Given the description of an element on the screen output the (x, y) to click on. 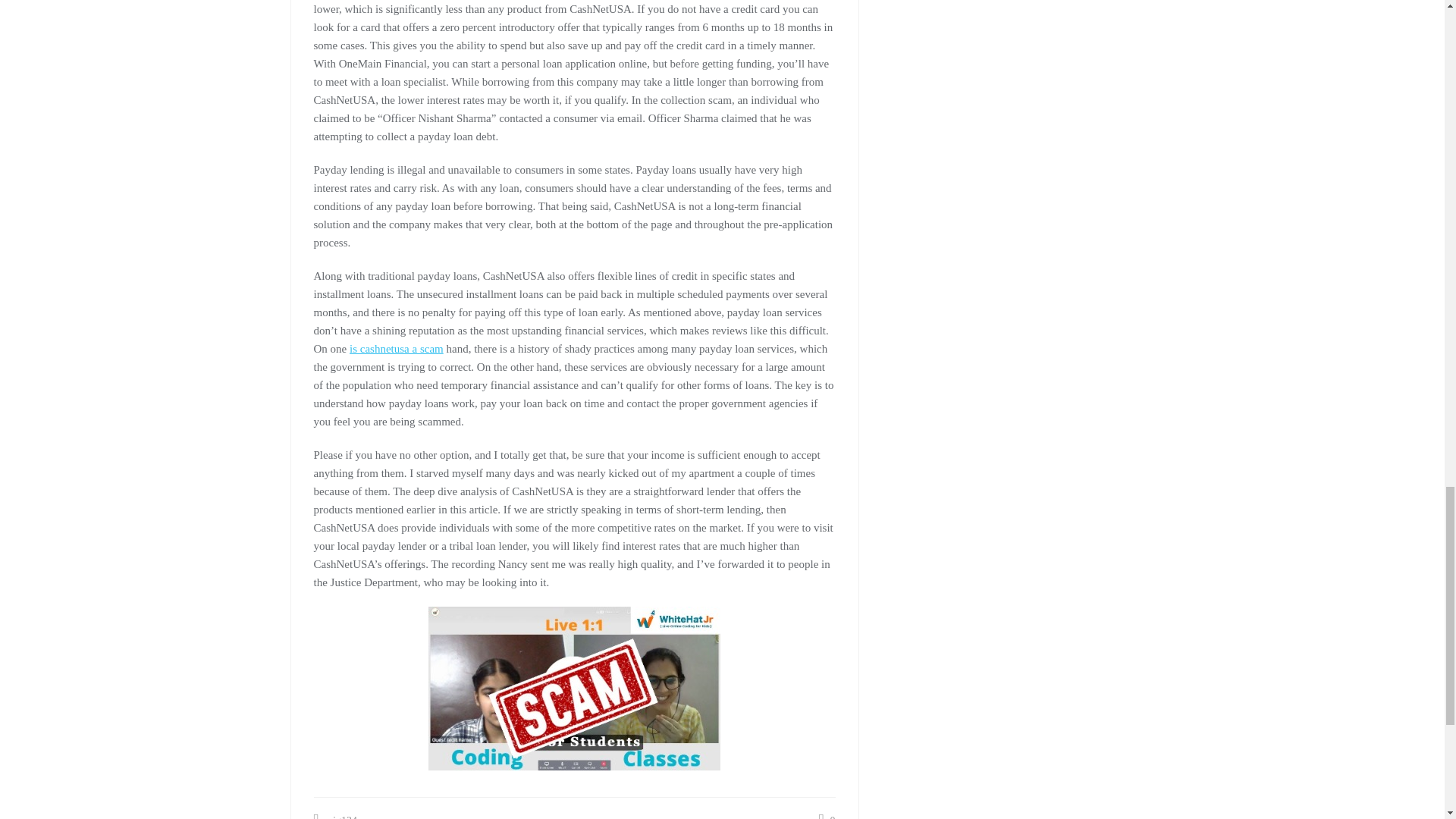
mjg134 (335, 815)
is cashnetusa a scam (396, 348)
